Given the description of an element on the screen output the (x, y) to click on. 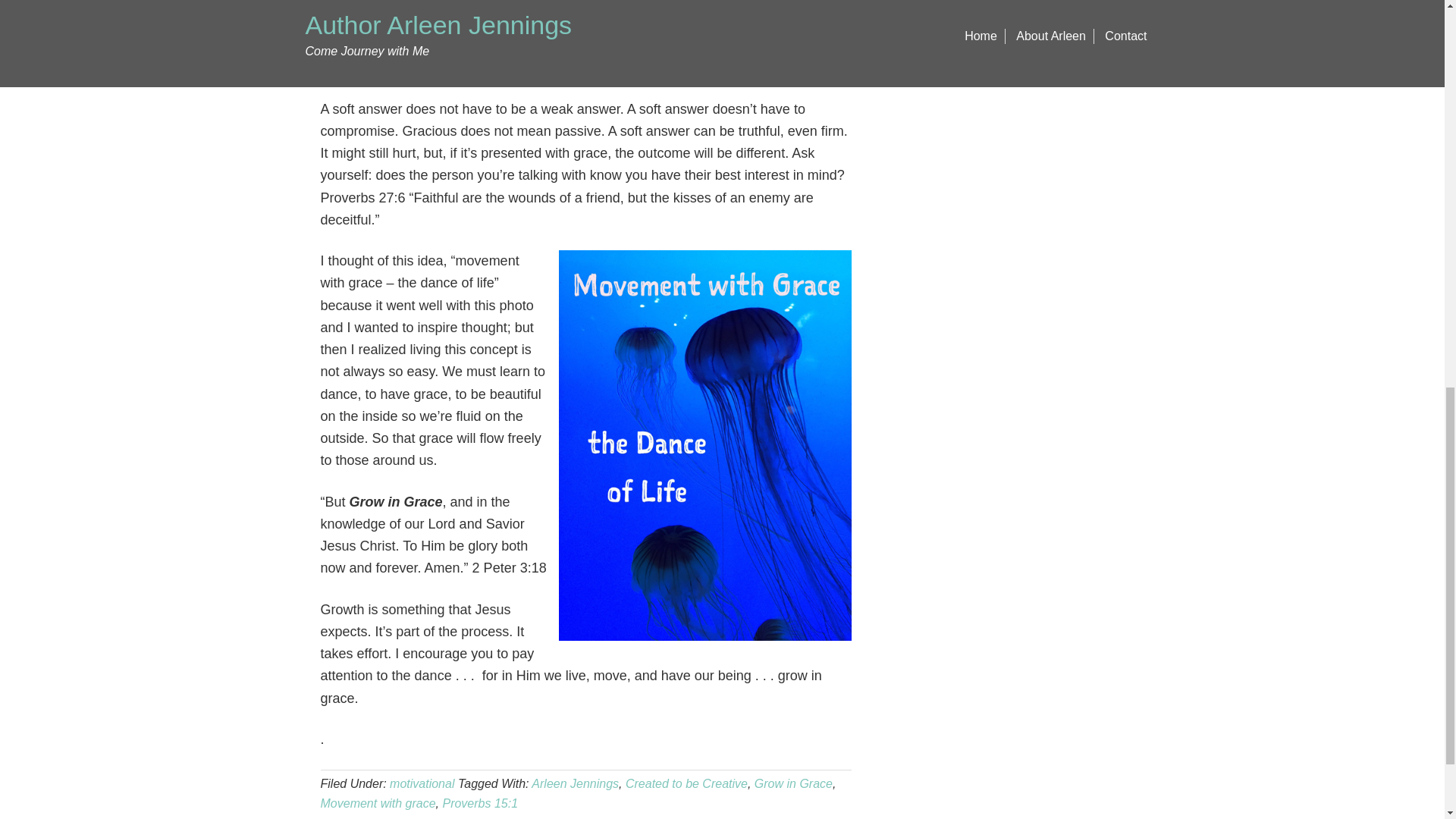
Proverbs 15:1 (480, 802)
Grow in Grace (793, 783)
Created to be Creative (687, 783)
motivational (422, 783)
Arleen Jennings (574, 783)
Movement with grace (377, 802)
